Given the description of an element on the screen output the (x, y) to click on. 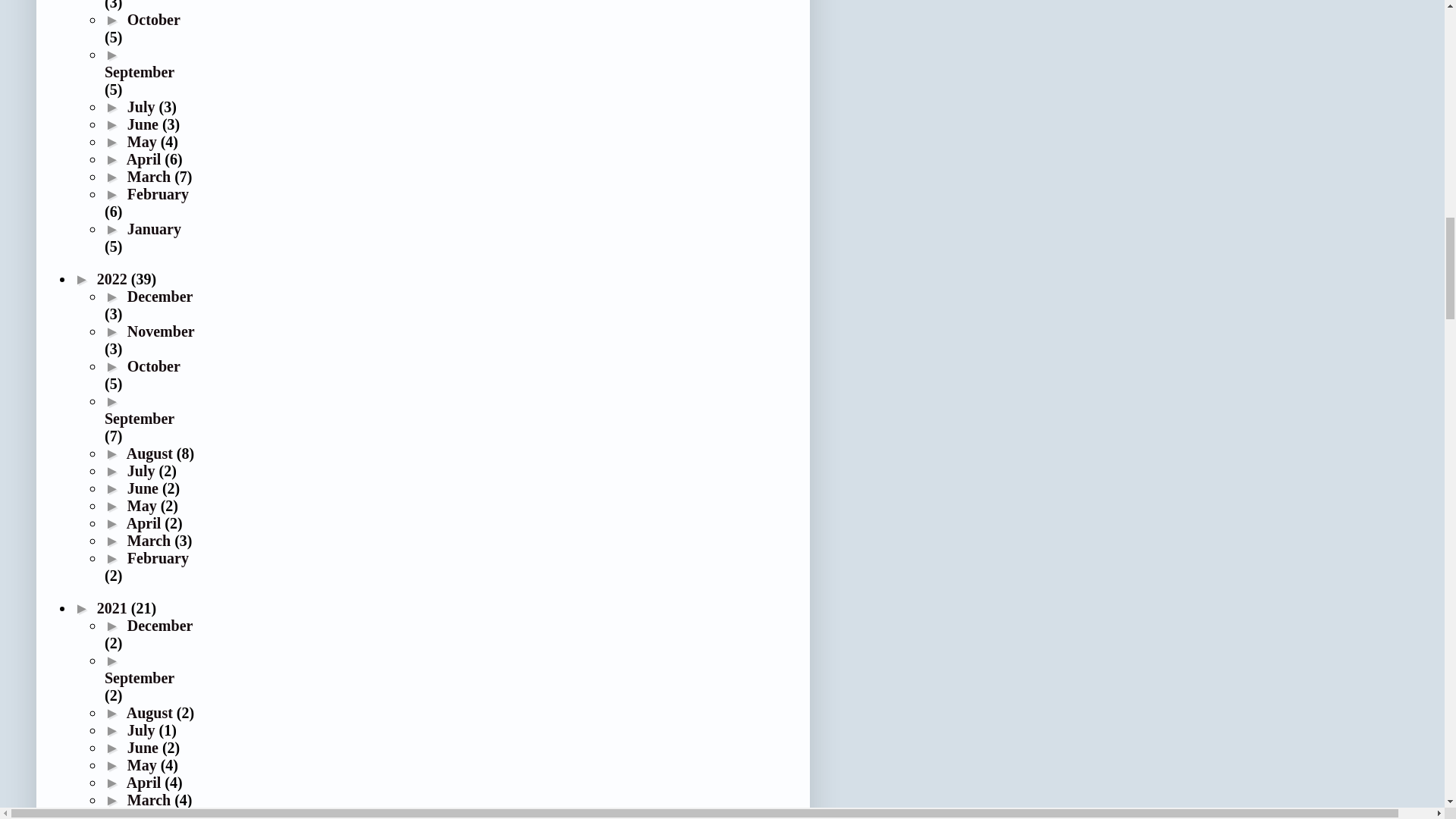
September (139, 71)
October (154, 19)
June (144, 124)
July (143, 106)
May (144, 141)
